Given the description of an element on the screen output the (x, y) to click on. 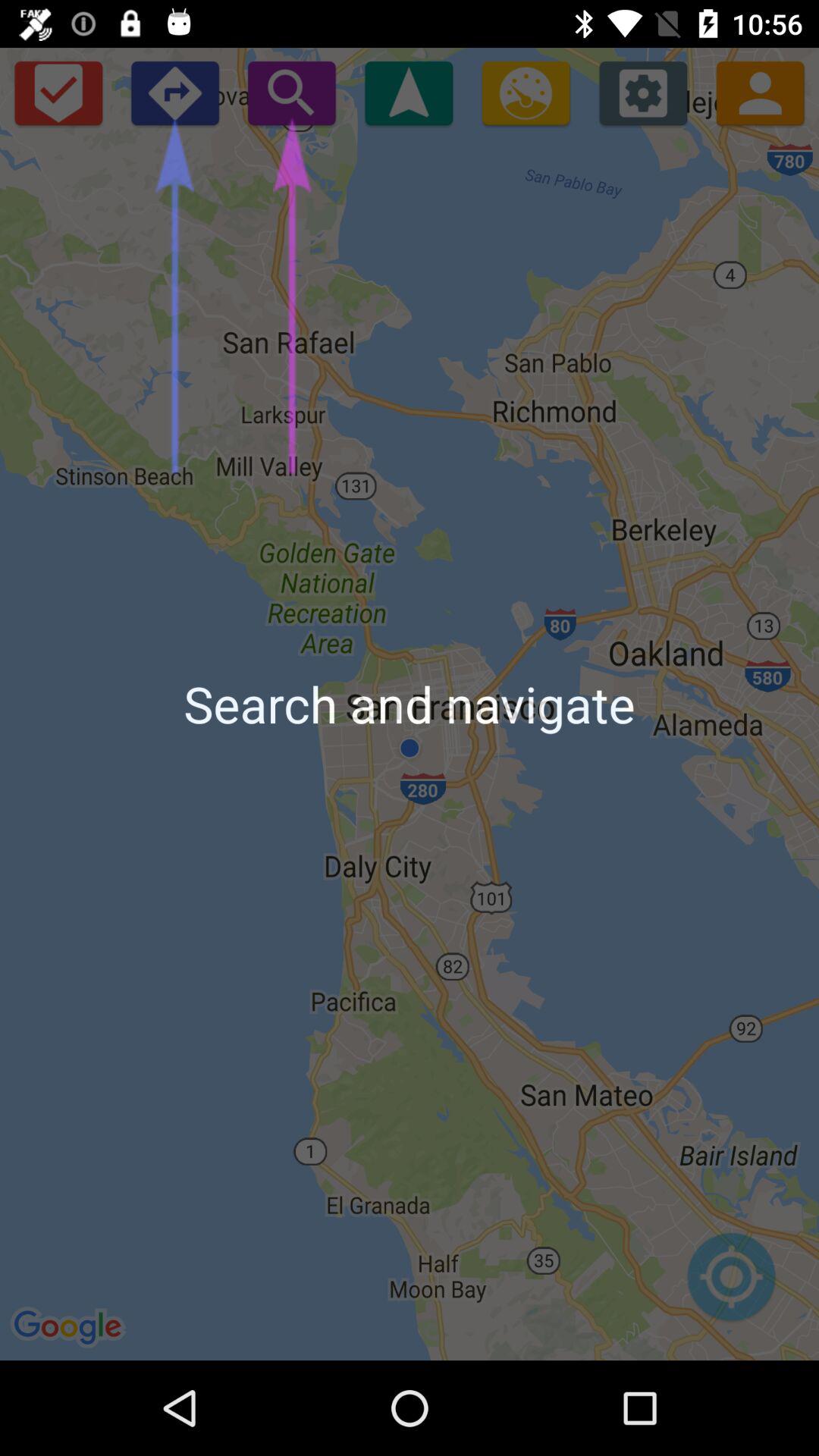
move screen up (408, 92)
